Given the description of an element on the screen output the (x, y) to click on. 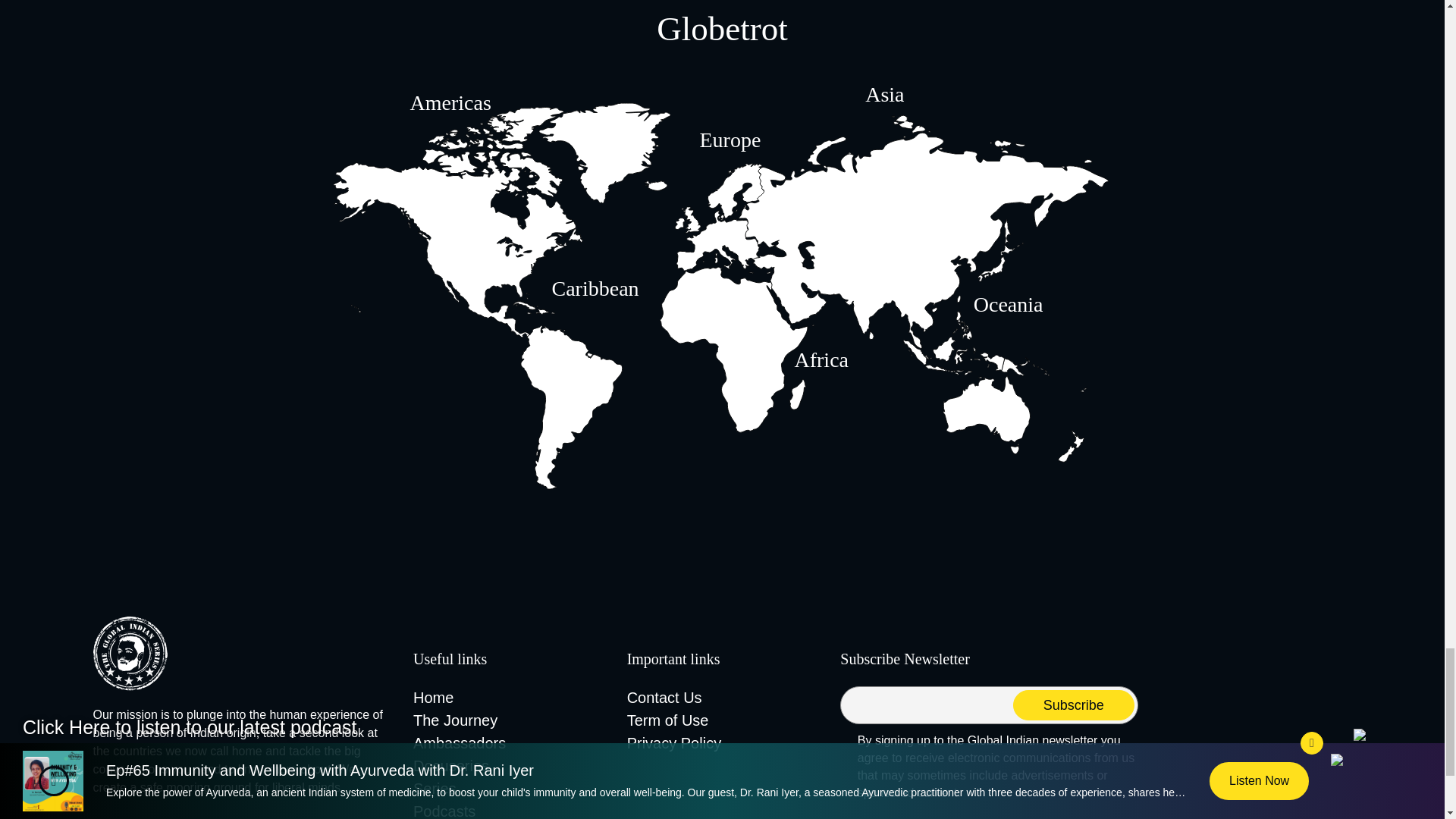
Subscribe (1073, 705)
